Given the description of an element on the screen output the (x, y) to click on. 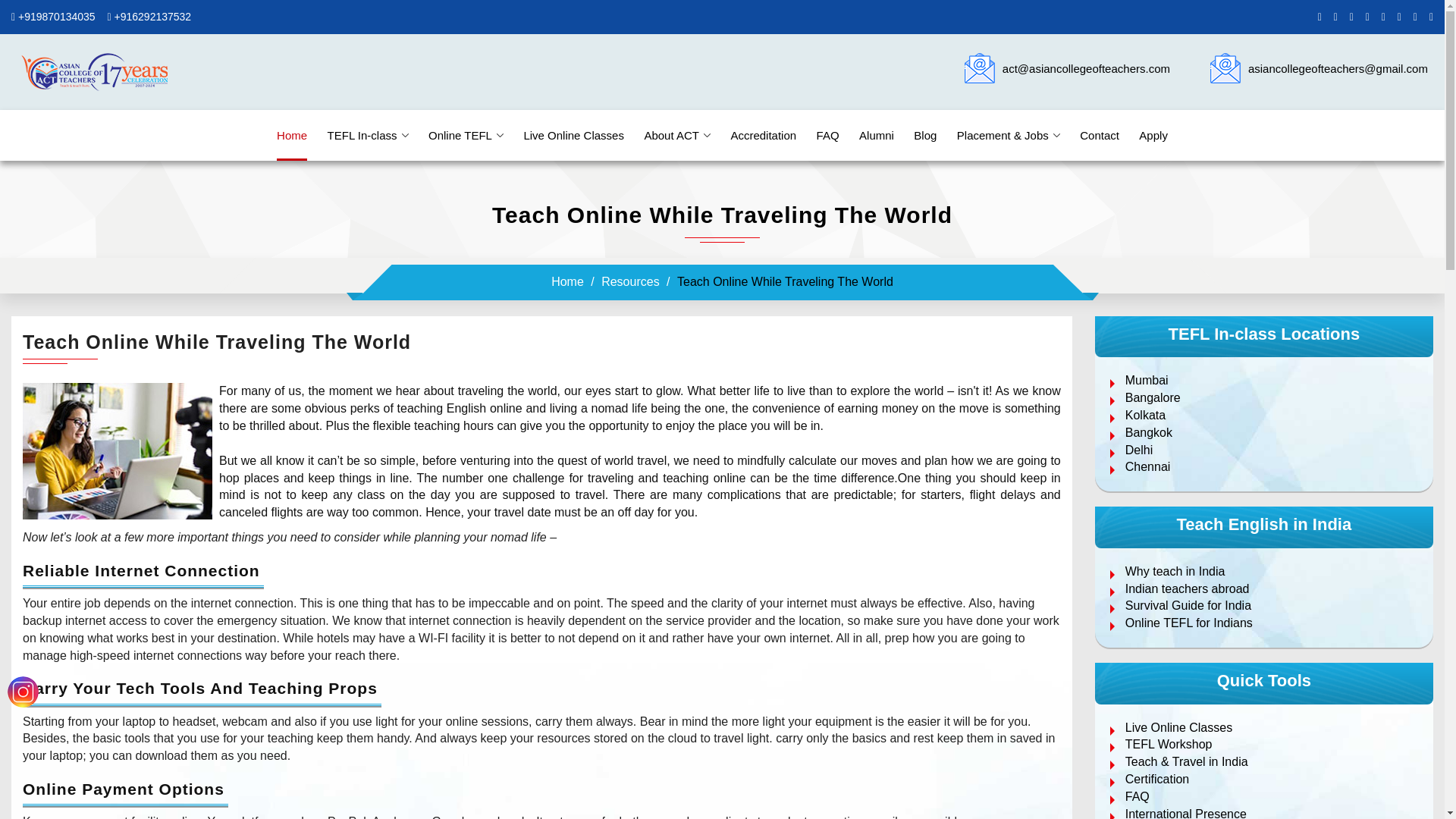
Live Online Classes (573, 134)
Online TEFL (465, 134)
TEFL In-class (368, 134)
Accreditation (763, 134)
About ACT (676, 134)
